Given the description of an element on the screen output the (x, y) to click on. 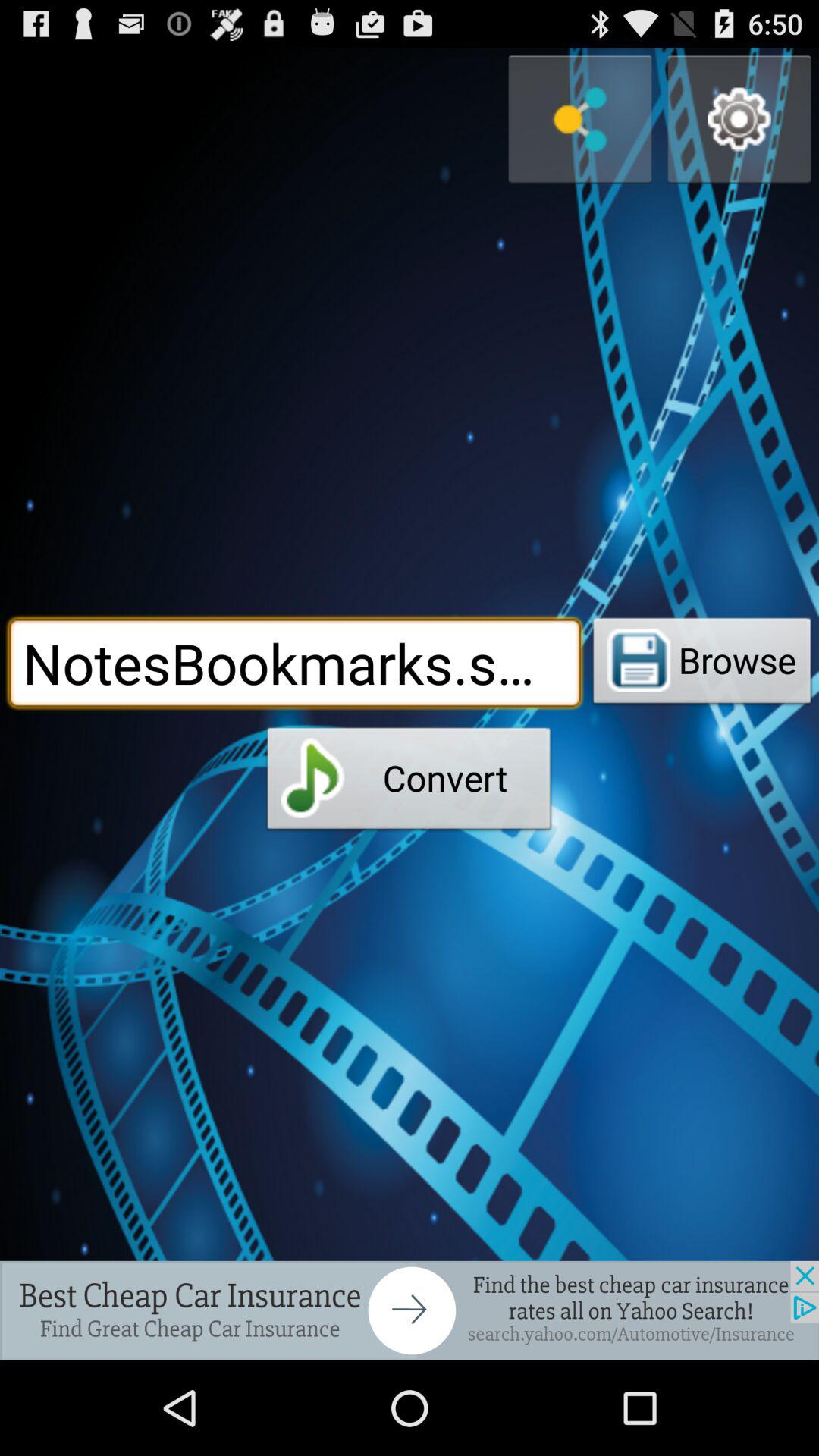
share the article (409, 1310)
